Given the description of an element on the screen output the (x, y) to click on. 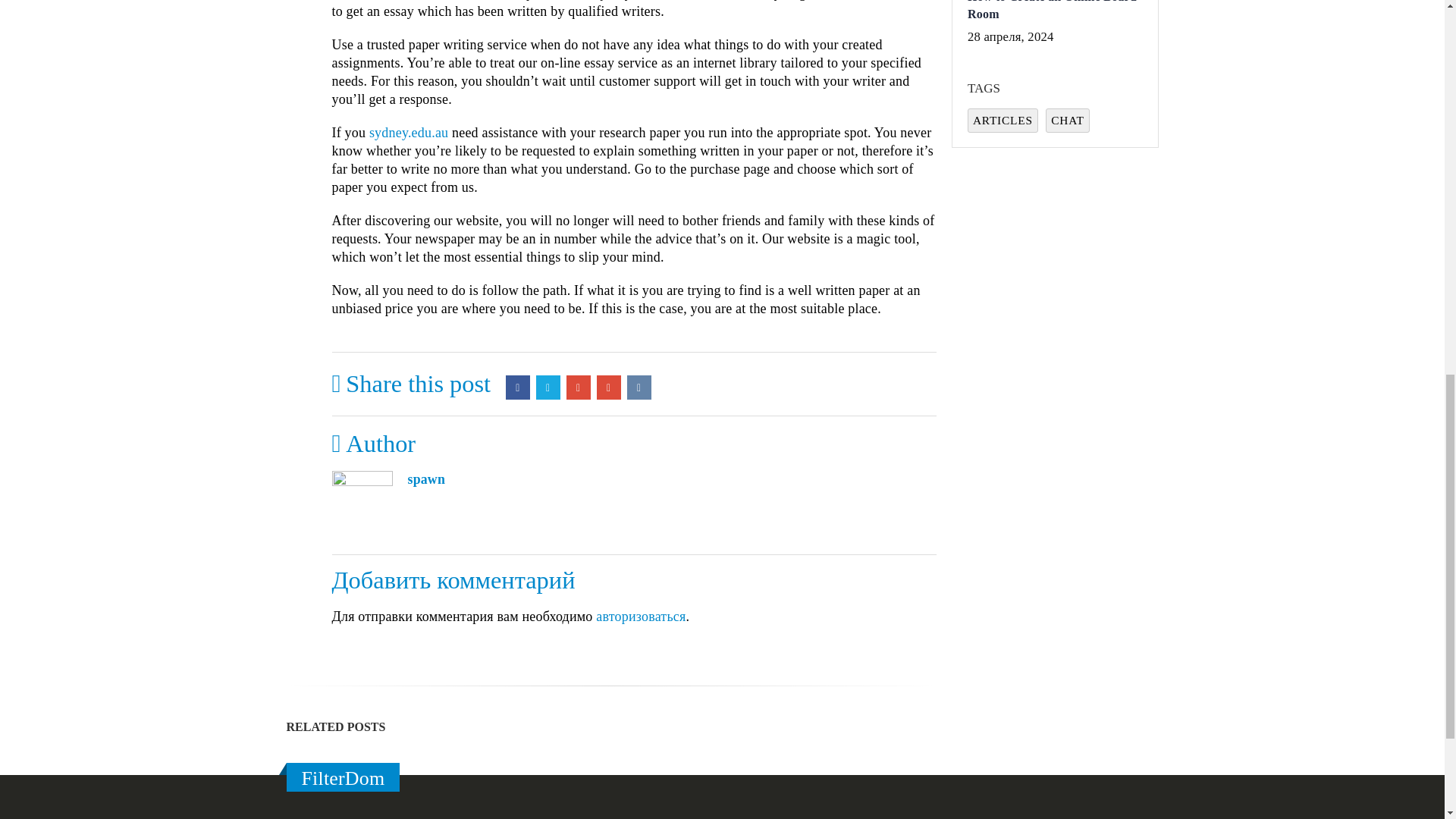
spawn (426, 478)
Facebook (517, 387)
Twitter (547, 387)
Email (608, 387)
Facebook (517, 387)
VK (638, 387)
Twitter (547, 387)
Email (608, 387)
VK (638, 387)
sydney.edu.au (408, 132)
